Given the description of an element on the screen output the (x, y) to click on. 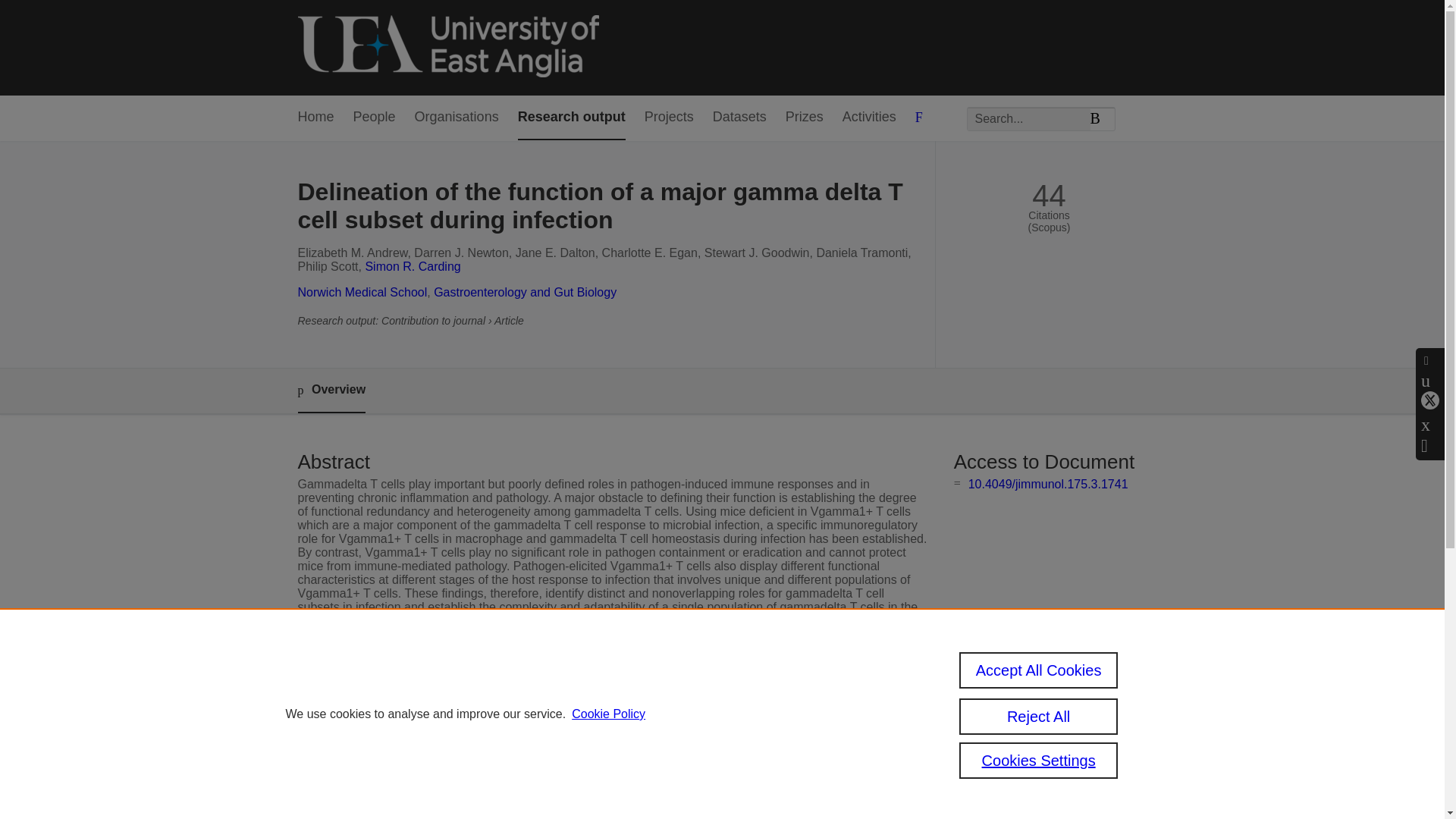
Research output (572, 117)
Overview (331, 390)
University of East Anglia Home (447, 47)
Journal of Immunology (570, 711)
Organisations (456, 117)
Simon R. Carding (412, 266)
People (374, 117)
Activities (869, 117)
Norwich Medical School (361, 291)
Projects (669, 117)
Gastroenterology and Gut Biology (524, 291)
Datasets (740, 117)
Cookie Policy (608, 713)
